Given the description of an element on the screen output the (x, y) to click on. 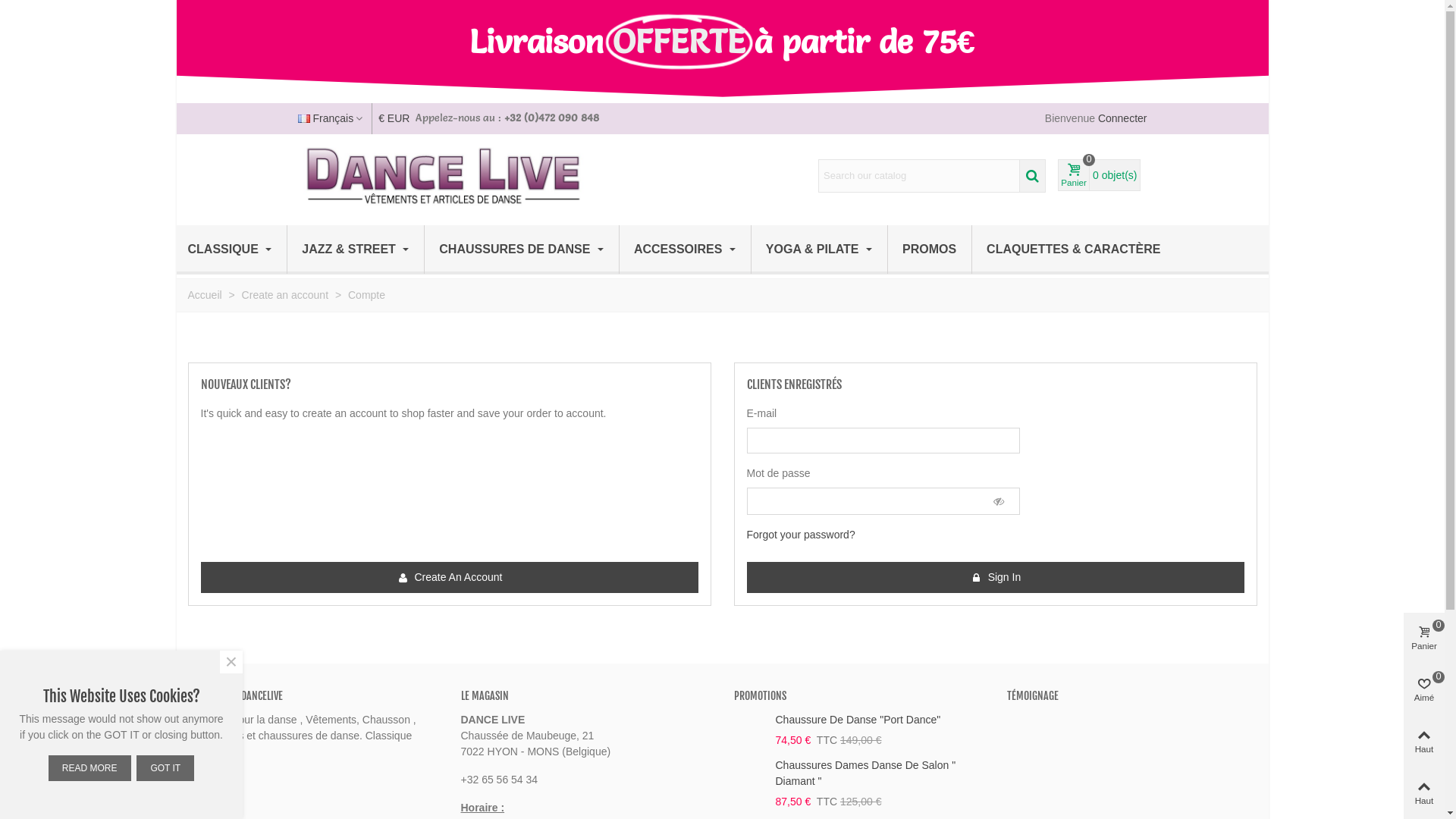
PROMOS Element type: text (929, 249)
CLASSIQUE Element type: text (237, 249)
Create An Account Element type: text (448, 577)
Connecter Element type: text (1122, 118)
Accueil Element type: text (206, 294)
CHAUSSURES DE DANSE Element type: text (520, 249)
YOGA & PILATE Element type: text (818, 249)
Chaussures Dames Danse De Salon " Diamant " Element type: text (879, 773)
READ MORE Element type: text (89, 768)
Forgot your password? Element type: text (800, 534)
GOT IT Element type: text (165, 768)
JAZZ & STREET Element type: text (354, 249)
ACCESSOIRES Element type: text (684, 249)
PROMOTIONS Element type: text (760, 695)
Panier
0 Element type: text (1423, 638)
Haut Element type: text (1423, 741)
Panier
0
0
objet(s) Element type: text (1098, 175)
Chaussure de danse "Port Dance" Element type: hover (751, 720)
Sign In Element type: text (994, 577)
Chaussures dames Danse de Salon " Diamant " Element type: hover (751, 765)
Chaussure De Danse "Port Dance" Element type: text (879, 720)
Create an account Element type: text (286, 294)
